Given the description of an element on the screen output the (x, y) to click on. 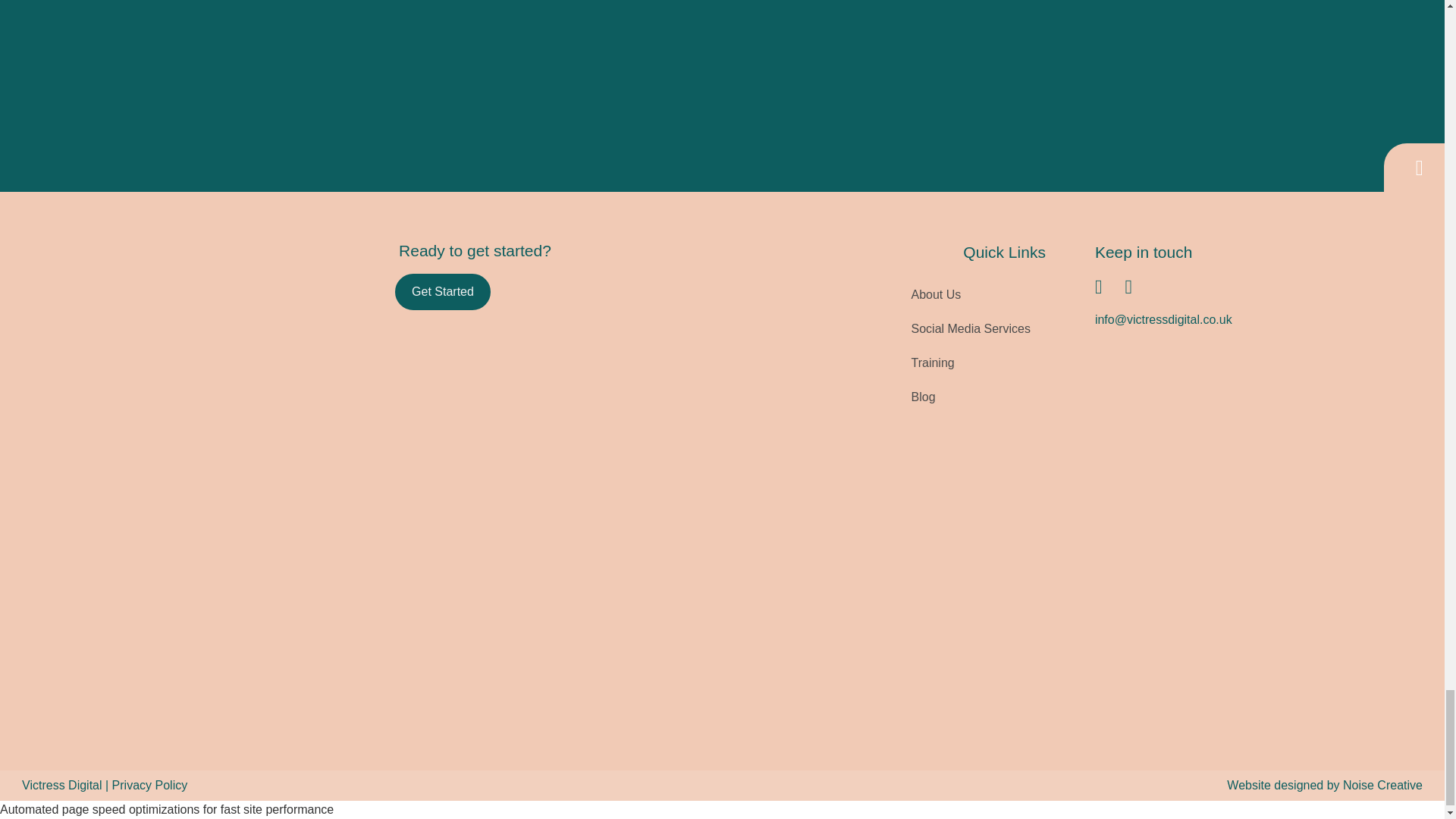
Social Media Services (970, 328)
Blog (970, 397)
Get Started (442, 291)
Training (970, 362)
About Us (970, 294)
